Given the description of an element on the screen output the (x, y) to click on. 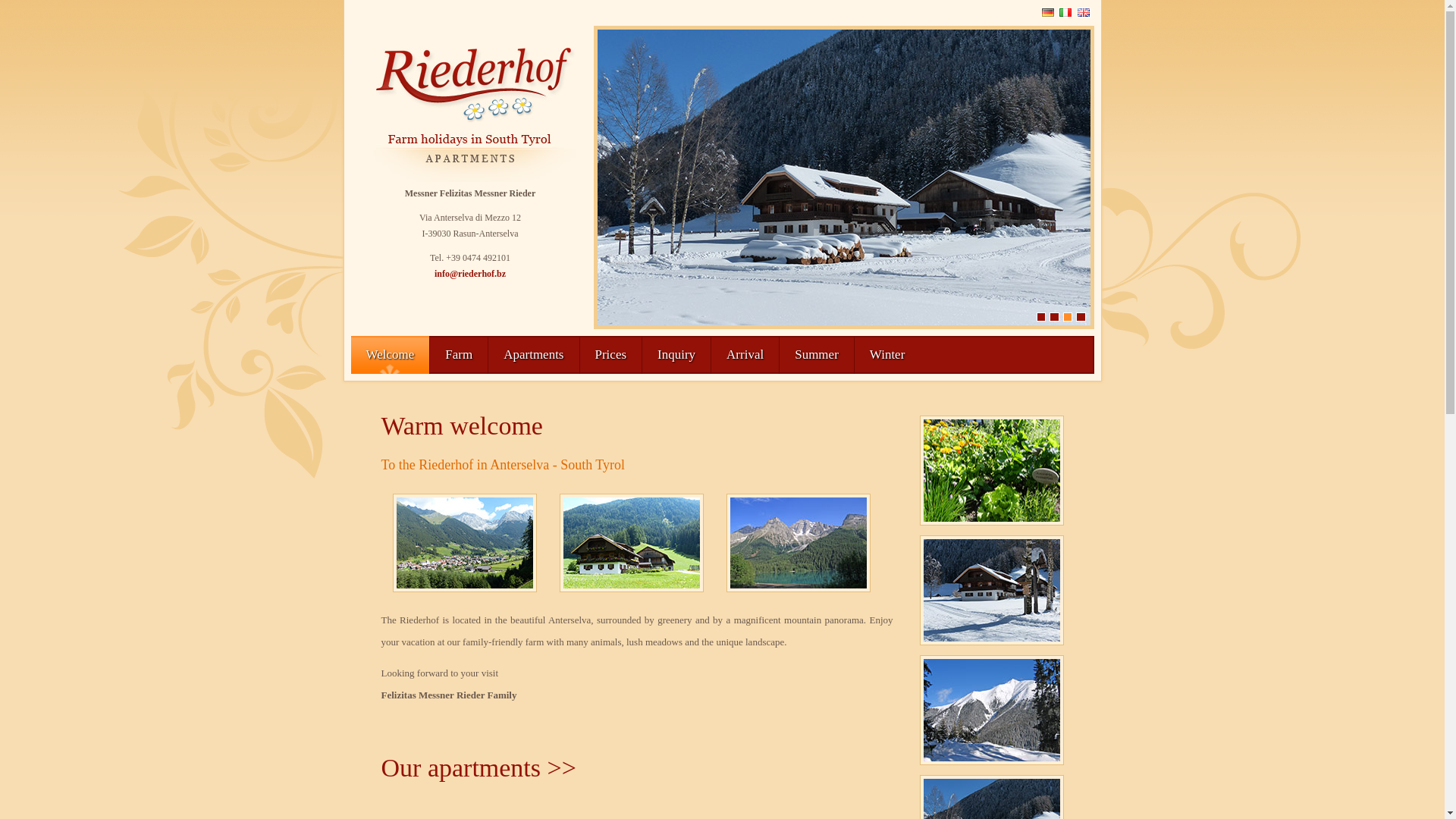
Welcome Element type: text (389, 354)
Arrival Element type: text (744, 354)
Inquiry Element type: text (676, 354)
1 Element type: text (1040, 316)
2 Element type: text (1053, 316)
3 Element type: text (1067, 316)
4 Element type: text (1080, 316)
info@riederhof.bz Element type: text (469, 273)
Summer Element type: text (816, 354)
Winter Element type: text (887, 354)
Farm Element type: text (458, 354)
Prices Element type: text (610, 354)
Apartments Element type: text (533, 354)
Our apartments >> Element type: text (477, 767)
